Given the description of an element on the screen output the (x, y) to click on. 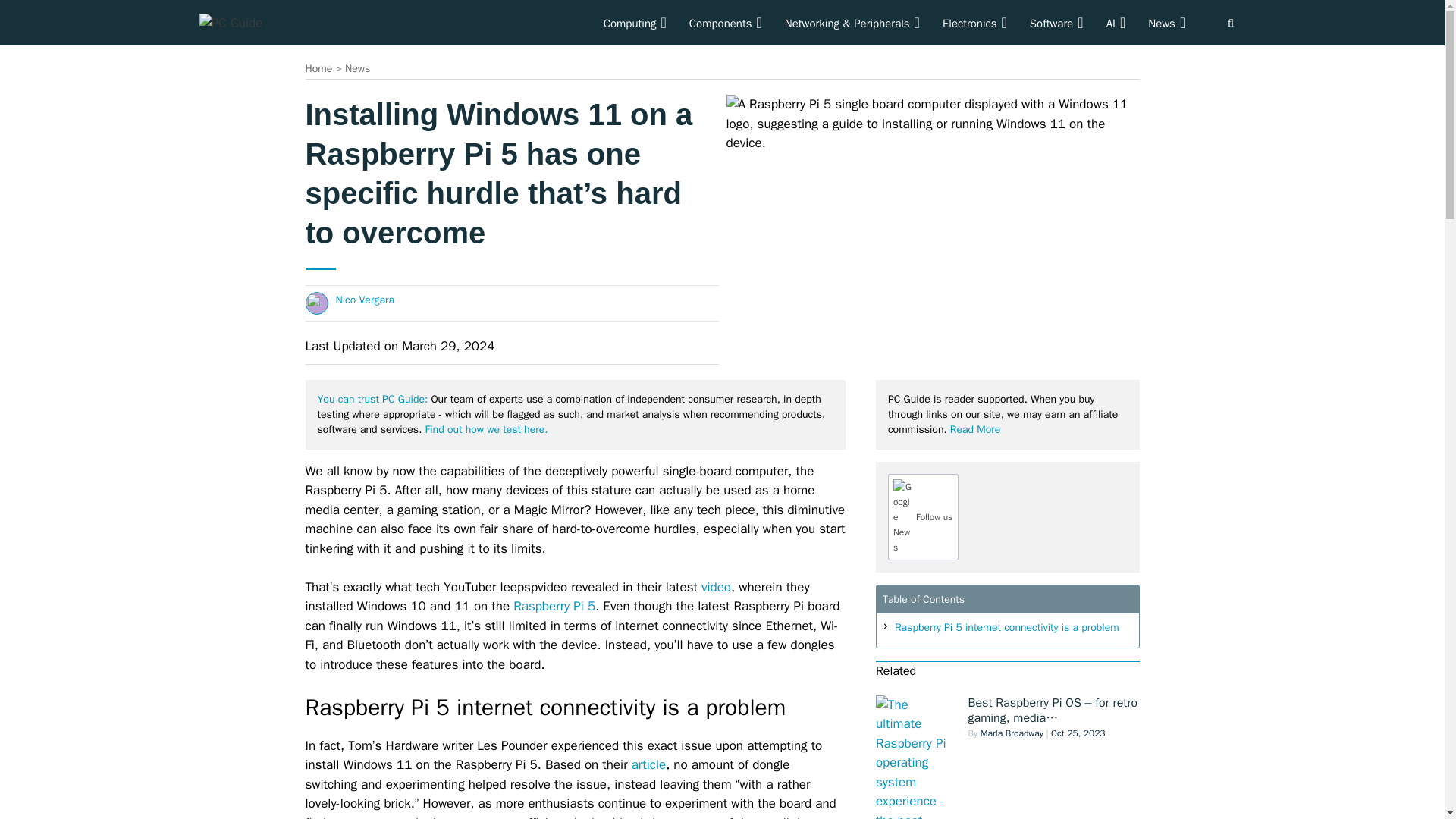
PC Guide (230, 22)
PC Guide (230, 23)
Computing (635, 22)
